Given the description of an element on the screen output the (x, y) to click on. 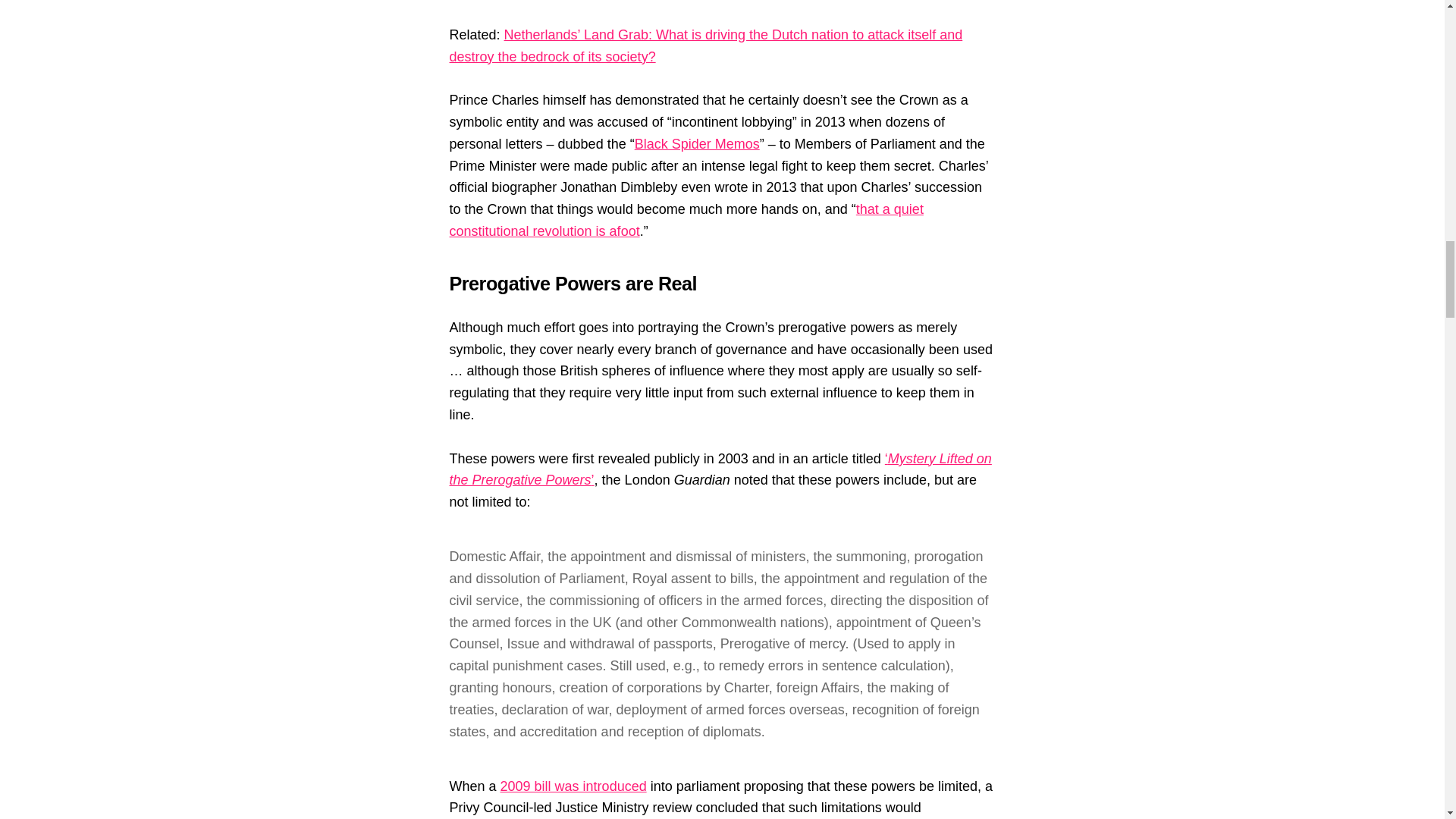
that a quiet constitutional revolution is afoot (685, 220)
Black Spider Memos (697, 143)
2009 bill was introduced (573, 785)
